Given the description of an element on the screen output the (x, y) to click on. 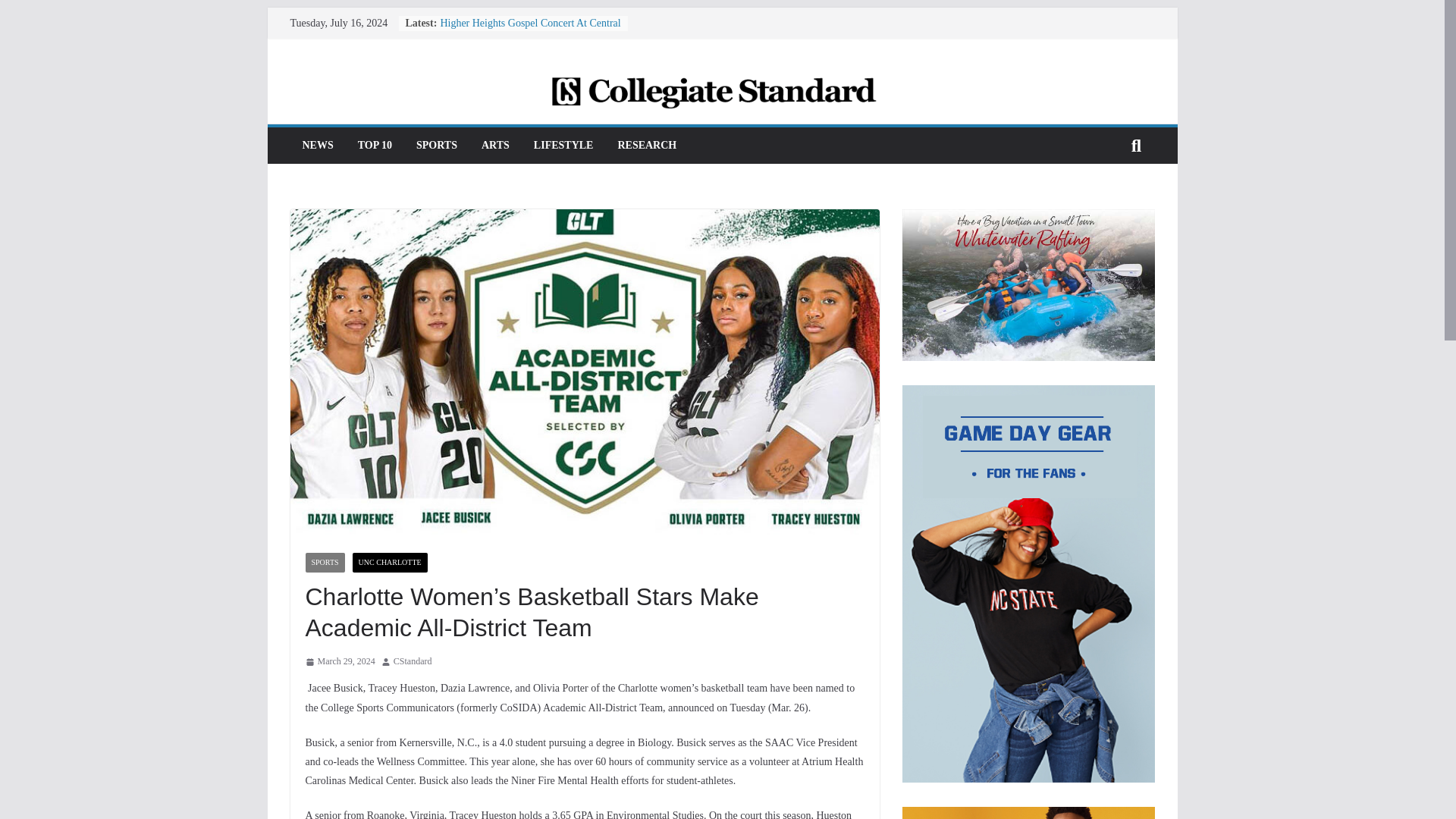
ARTS (495, 145)
LIFESTYLE (564, 145)
Collegiate Standard (721, 84)
CStandard (412, 661)
UNC CHARLOTTE (390, 562)
SPORTS (436, 145)
Higher Heights Gospel Concert At Central Piedmont Aug 18 (529, 30)
CStandard (412, 661)
RESEARCH (647, 145)
Higher Heights Gospel Concert At Central Piedmont Aug 18 (529, 30)
SPORTS (323, 562)
TOP 10 (374, 145)
NEWS (317, 145)
10:31 pm (339, 661)
